Given the description of an element on the screen output the (x, y) to click on. 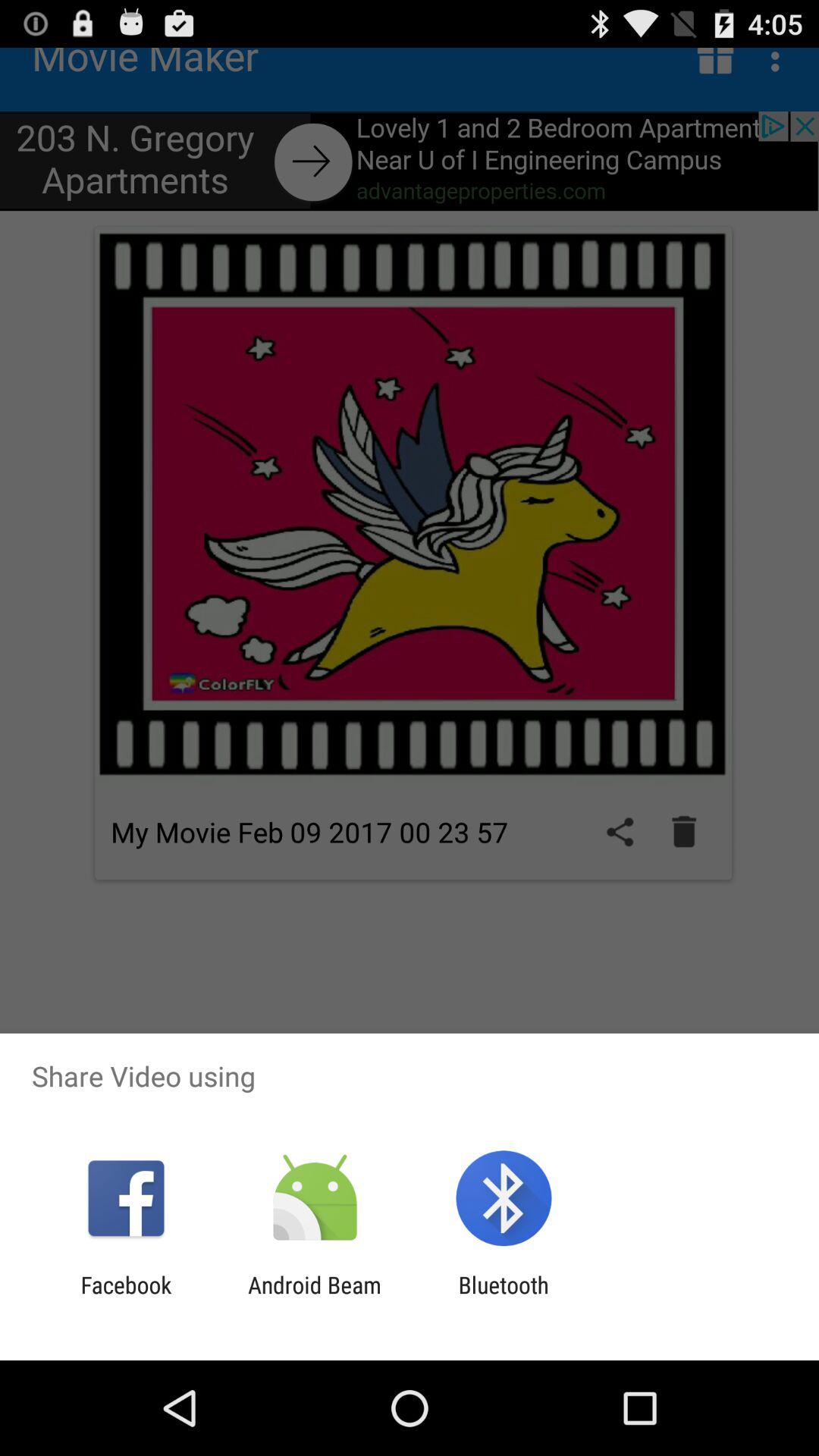
swipe to android beam (314, 1298)
